Given the description of an element on the screen output the (x, y) to click on. 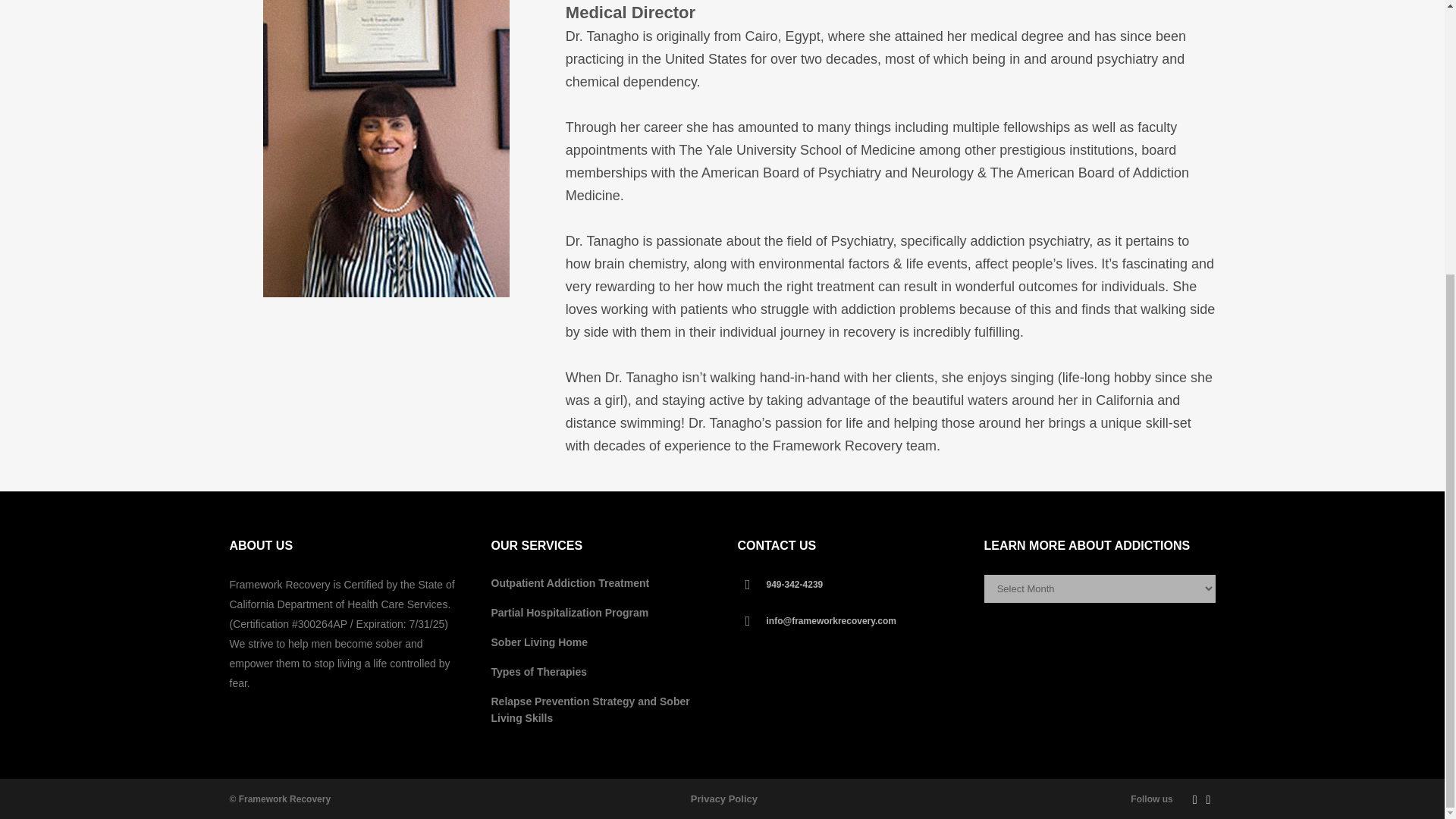
Outpatient Addiction Treatment (603, 582)
Types of Therapies (603, 671)
Relapse Prevention Strategy and Sober Living Skills (603, 709)
Partial Hospitalization Program (603, 612)
Sober Living Home (603, 641)
Privacy Policy (723, 798)
